Given the description of an element on the screen output the (x, y) to click on. 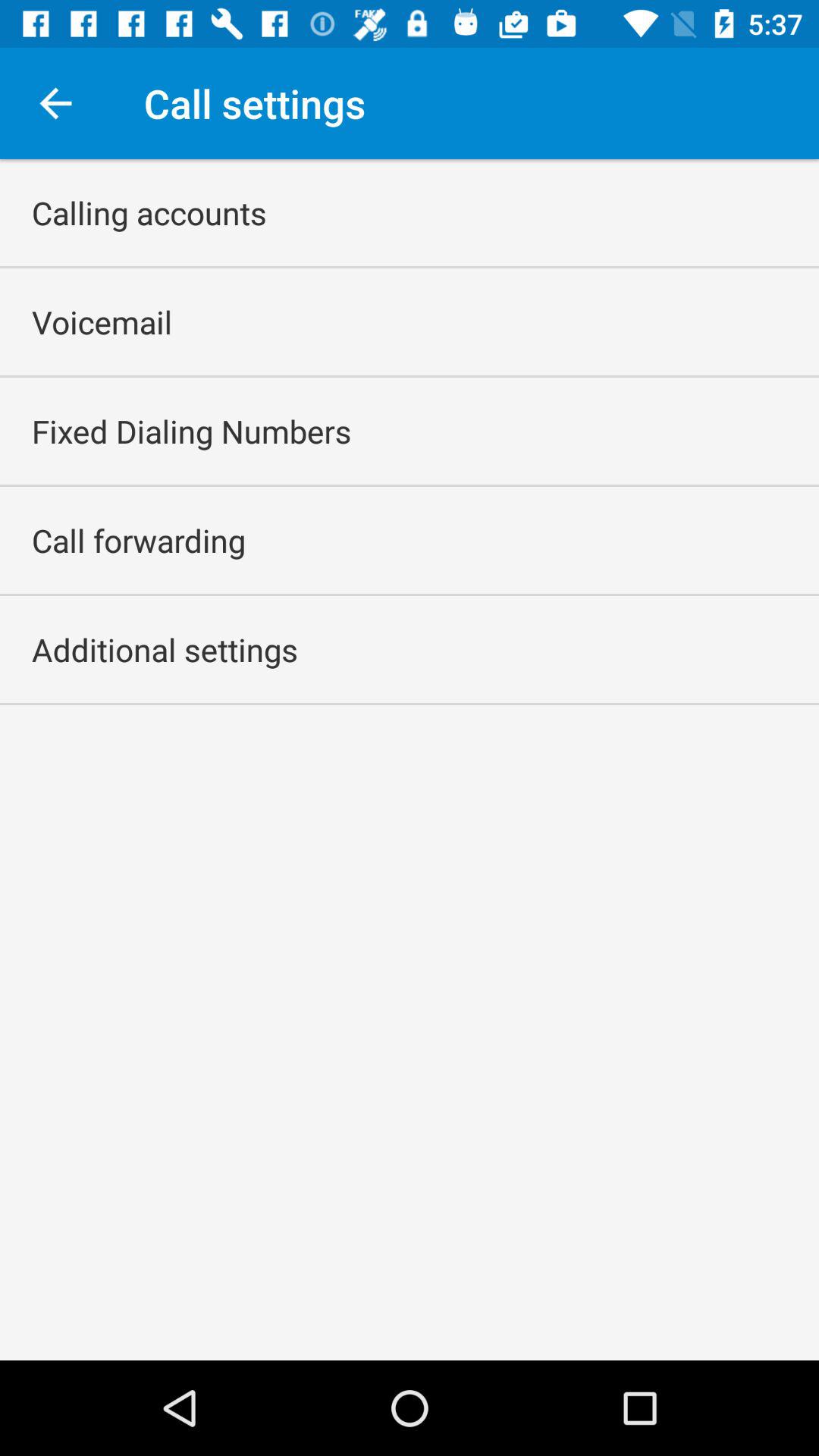
tap additional settings app (164, 649)
